Given the description of an element on the screen output the (x, y) to click on. 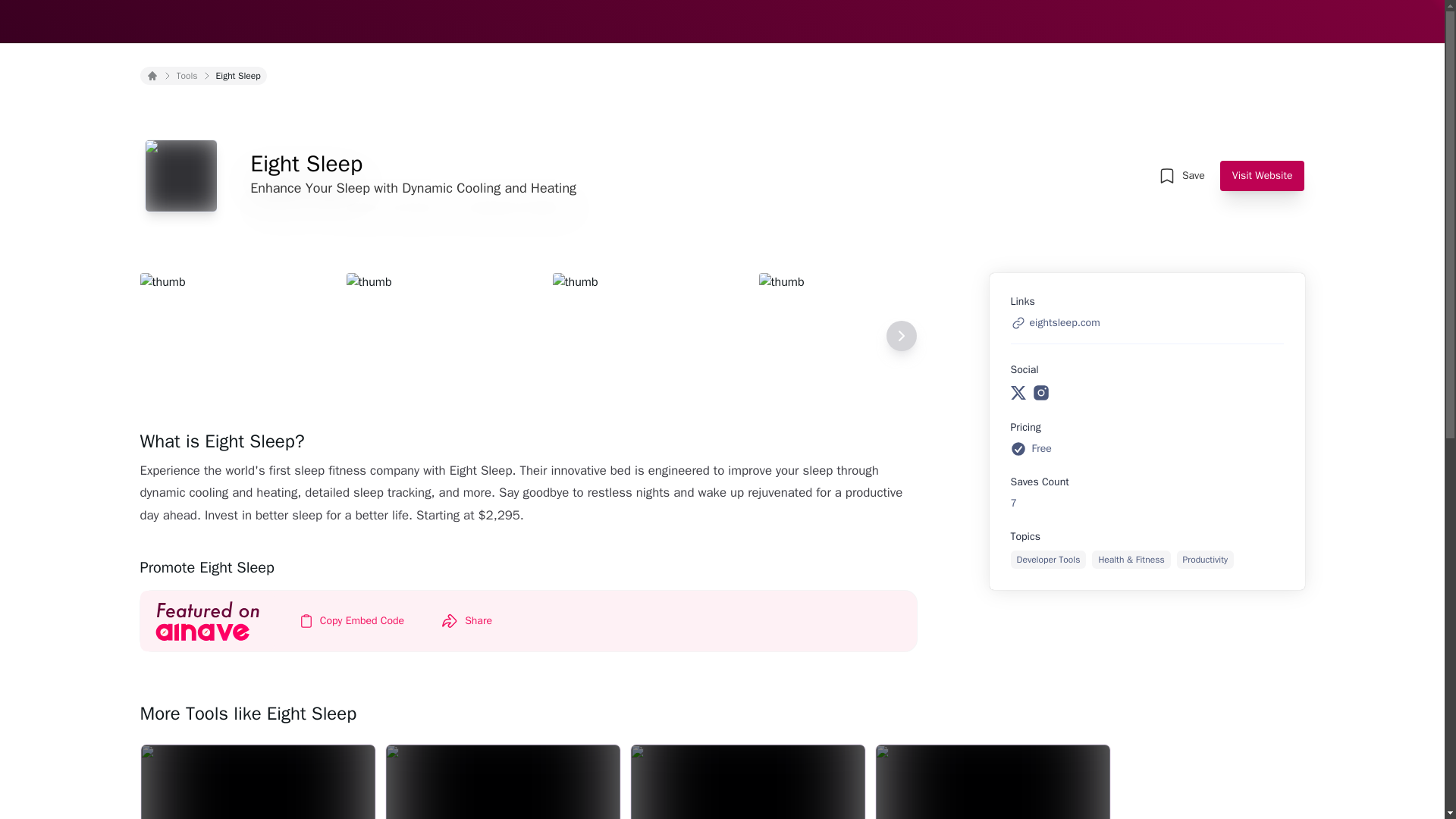
eightsleep.com (1054, 322)
Productivity (1204, 559)
Tools (186, 75)
Save (1181, 175)
Developer Tools (1048, 559)
Visit Website (1262, 175)
Share (465, 621)
Copy Embed Code (351, 621)
